Given the description of an element on the screen output the (x, y) to click on. 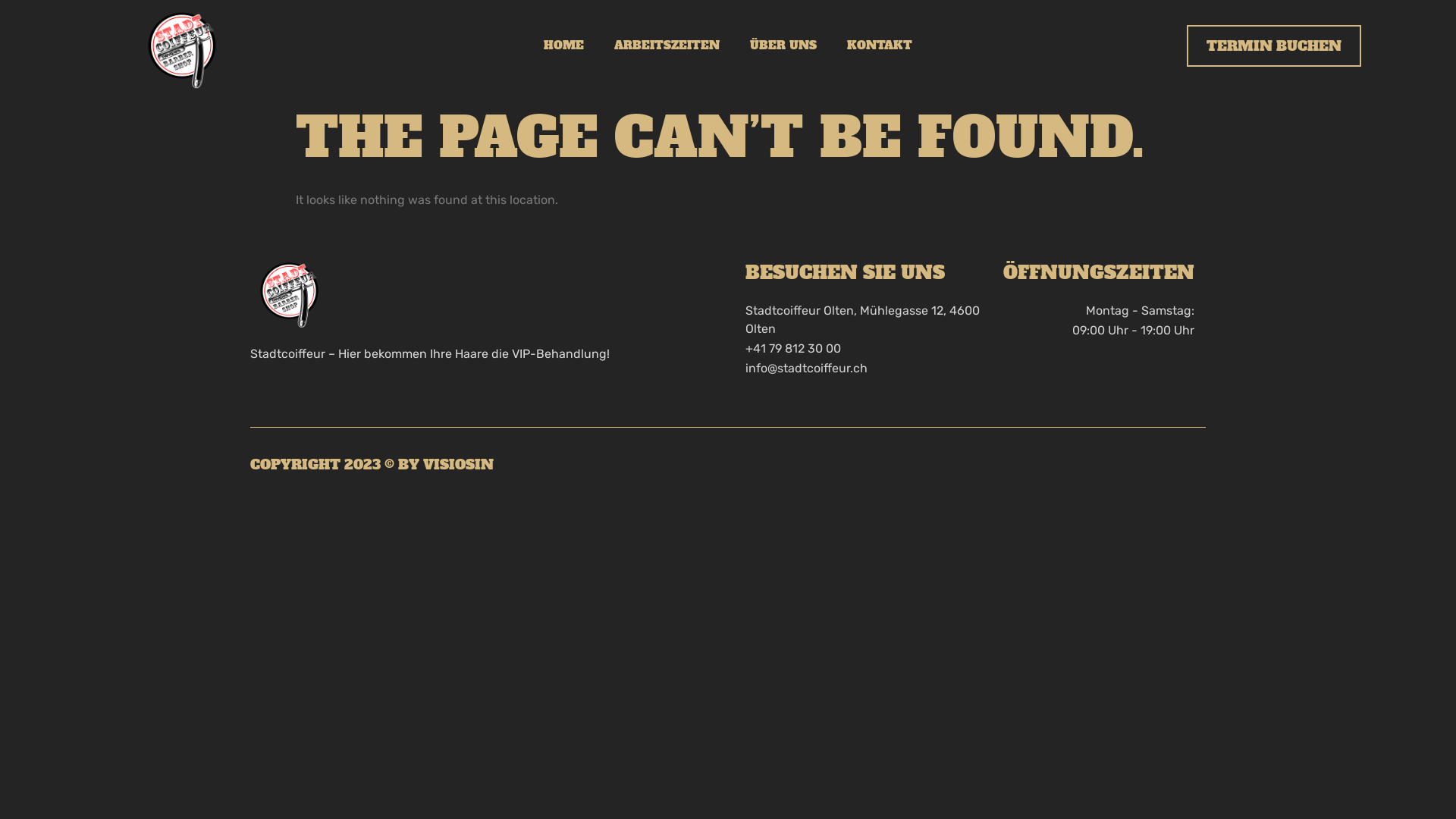
HOME Element type: text (563, 45)
KONTAKT Element type: text (879, 45)
TERMIN BUCHEN Element type: text (1273, 44)
ARBEITSZEITEN Element type: text (666, 45)
